Given the description of an element on the screen output the (x, y) to click on. 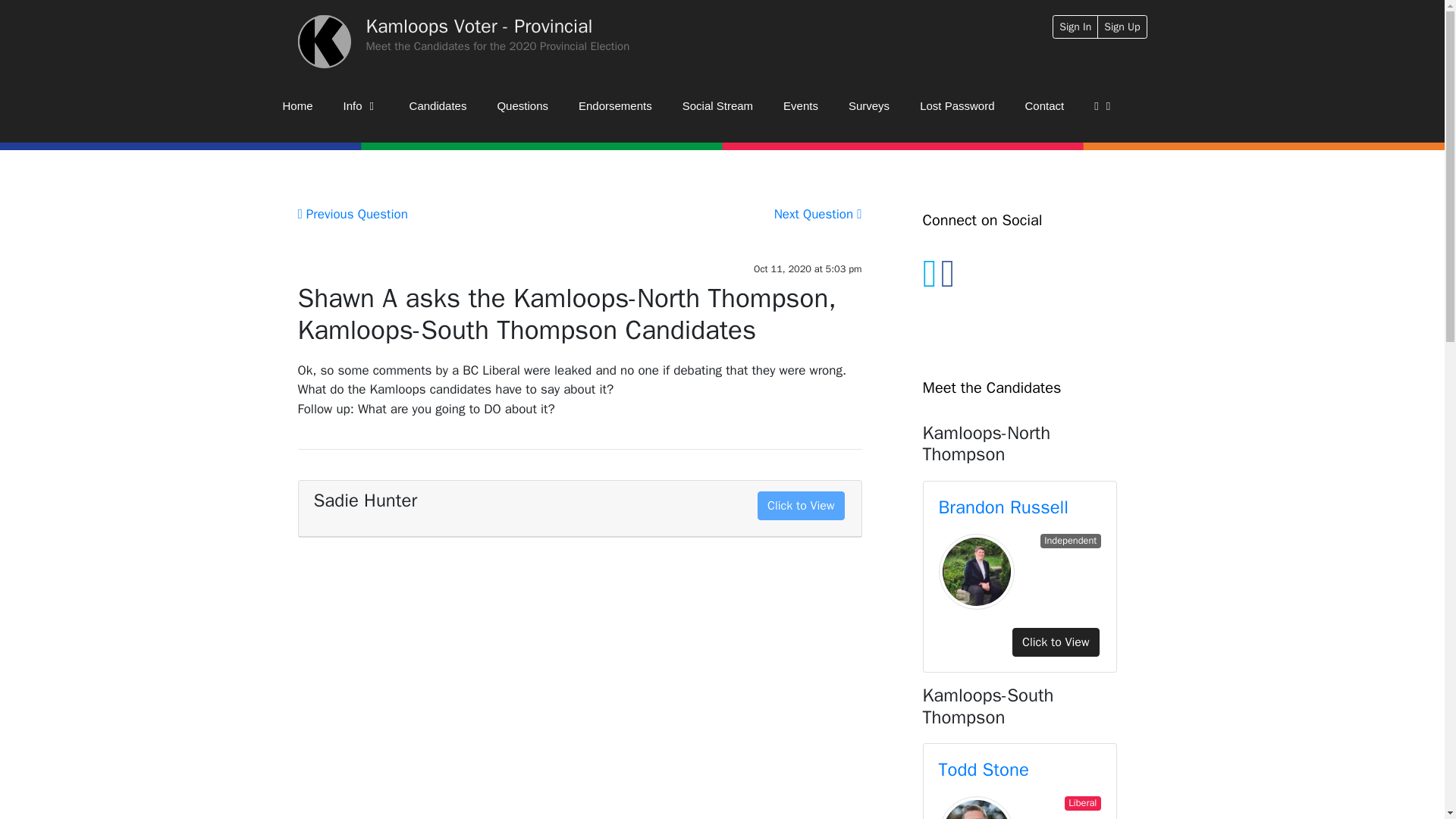
Contact (1045, 105)
Endorsements (614, 105)
Info (361, 105)
Events (800, 105)
Candidates (437, 105)
Sign Up (1122, 26)
Sign In (1074, 26)
Home (296, 105)
Questions (522, 105)
Surveys (868, 105)
Social Stream (717, 105)
Kamloops Voter - Provincial (478, 25)
Lost Password (956, 105)
